Given the description of an element on the screen output the (x, y) to click on. 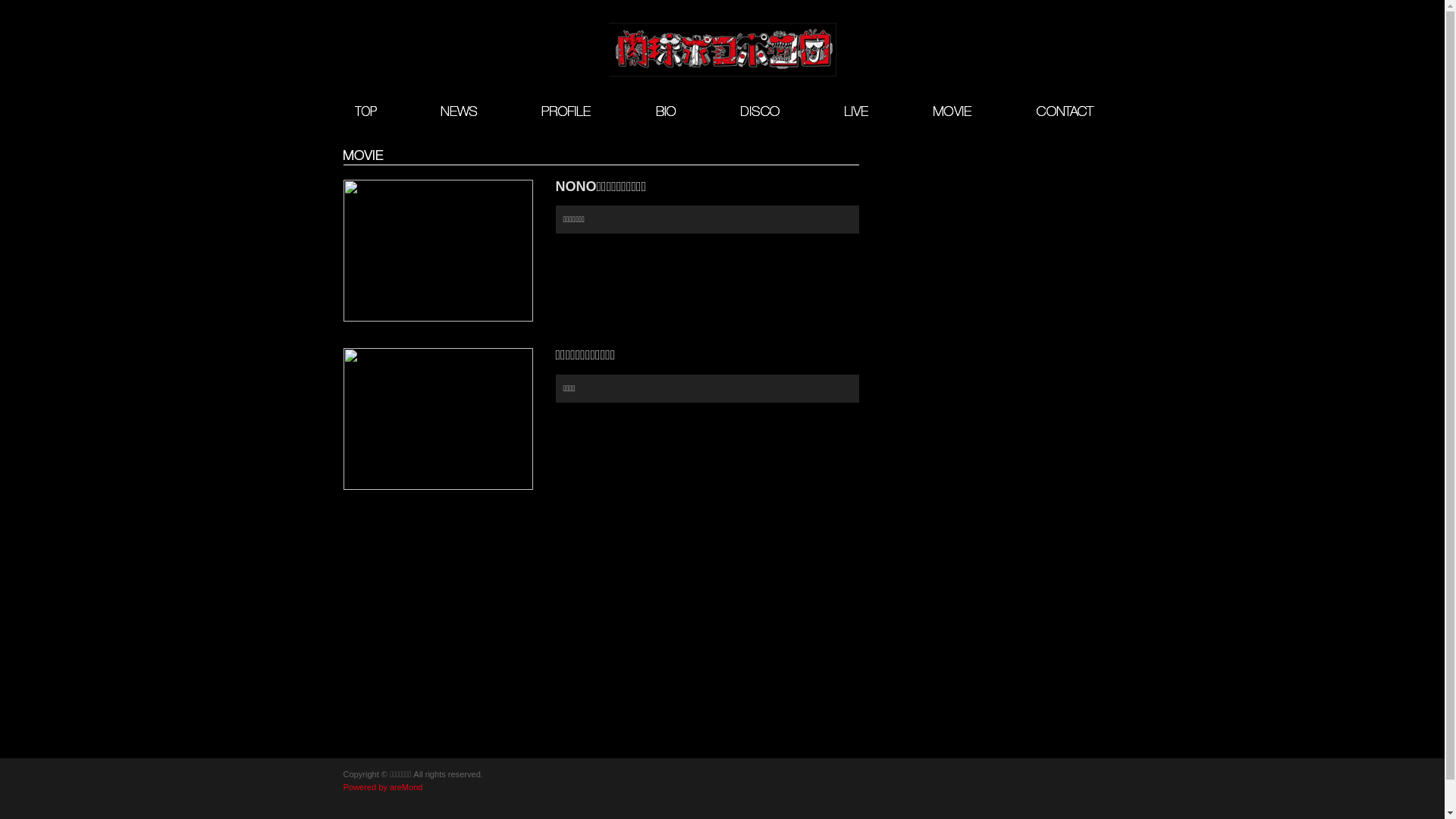
Powered by areMond Element type: text (382, 786)
